Given the description of an element on the screen output the (x, y) to click on. 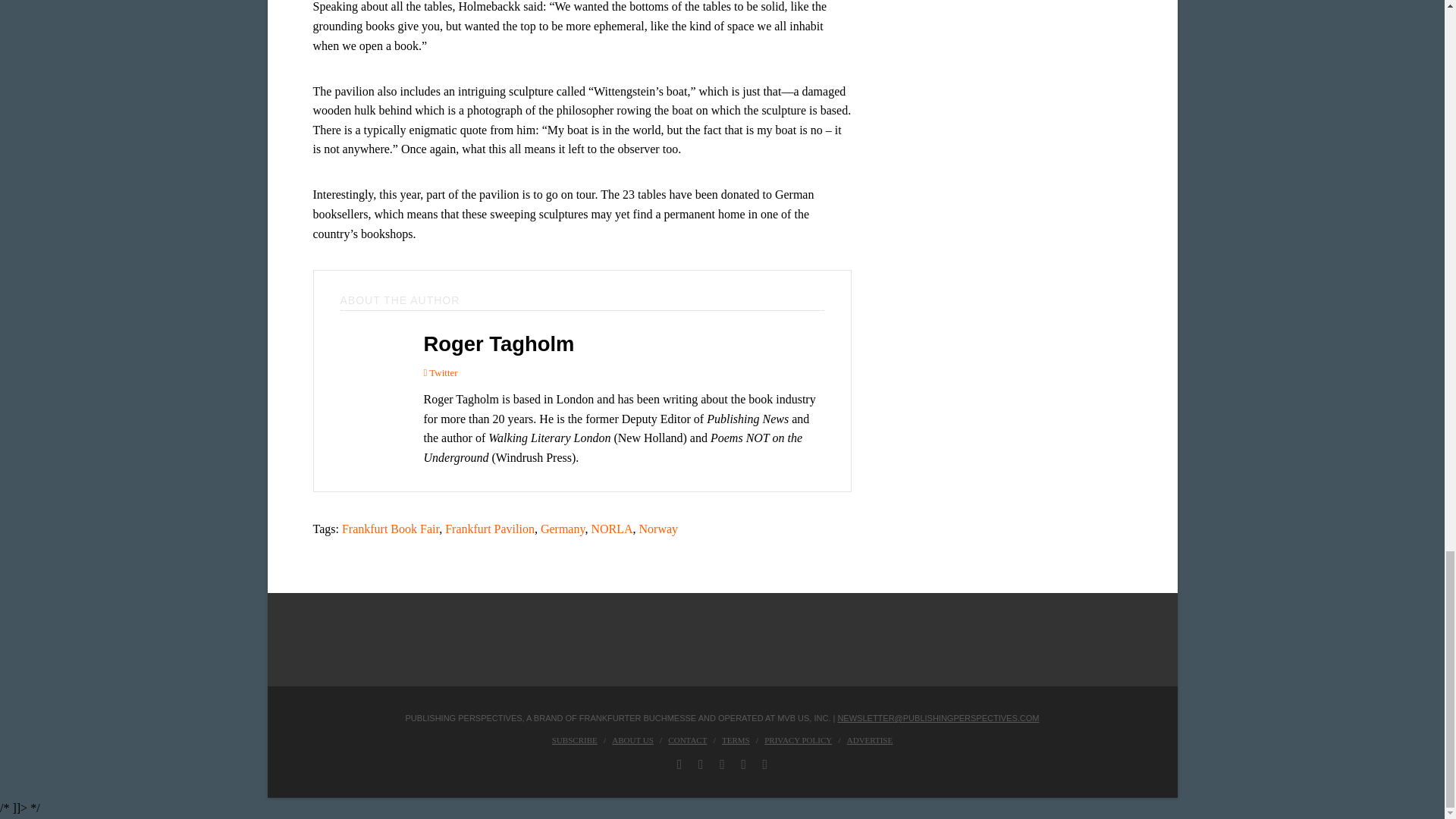
Terms and Conditions (735, 739)
NORLA (611, 528)
Visit the Twitter Profile for Roger Tagholm (440, 372)
Germany (562, 528)
Subscribe to Publishing Perspectives (573, 739)
Twitter (440, 372)
Frankfurt Book Fair (390, 528)
Frankfurt Pavilion (489, 528)
